Given the description of an element on the screen output the (x, y) to click on. 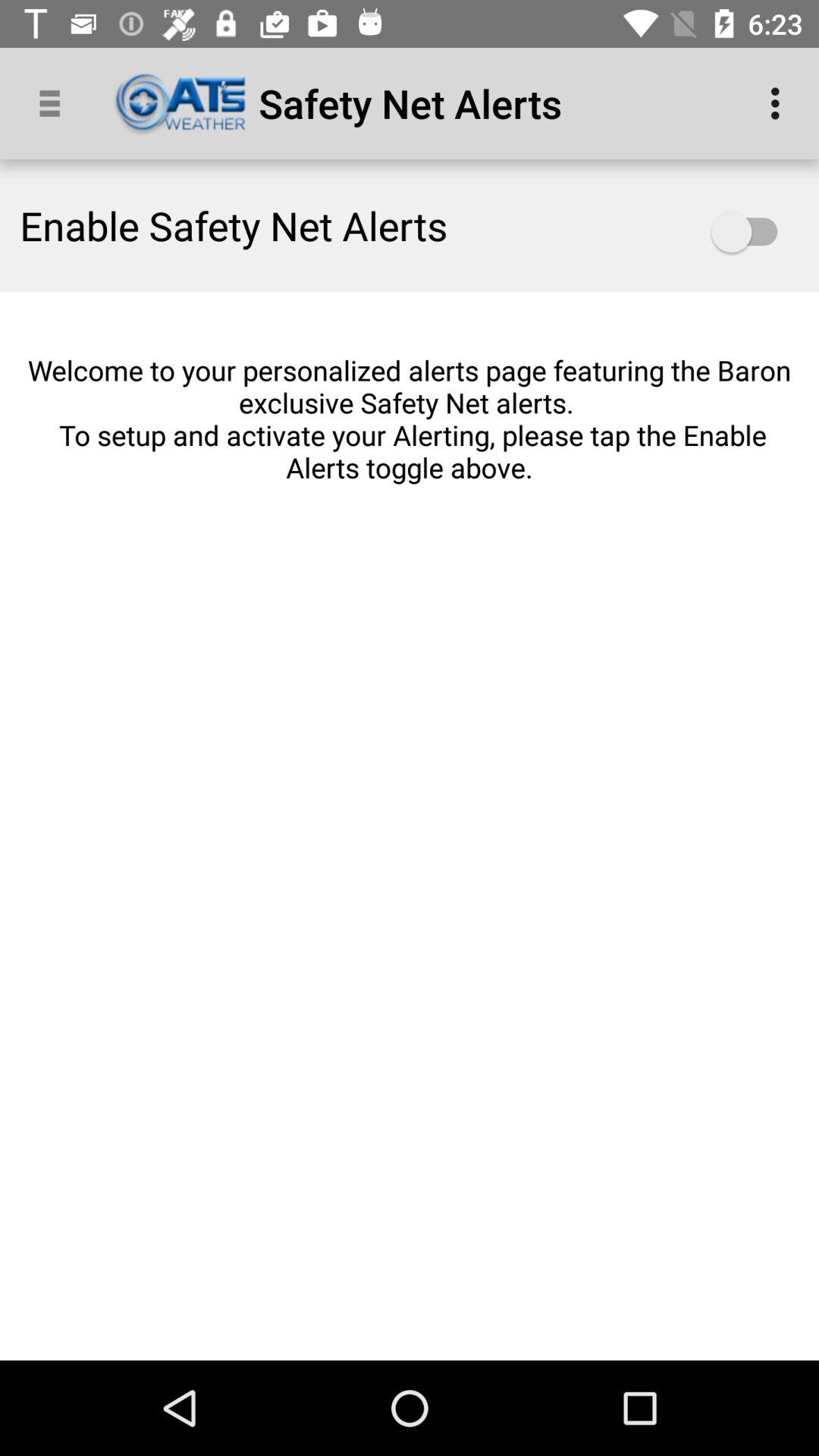
press app to the right of the safety net alerts app (779, 103)
